Given the description of an element on the screen output the (x, y) to click on. 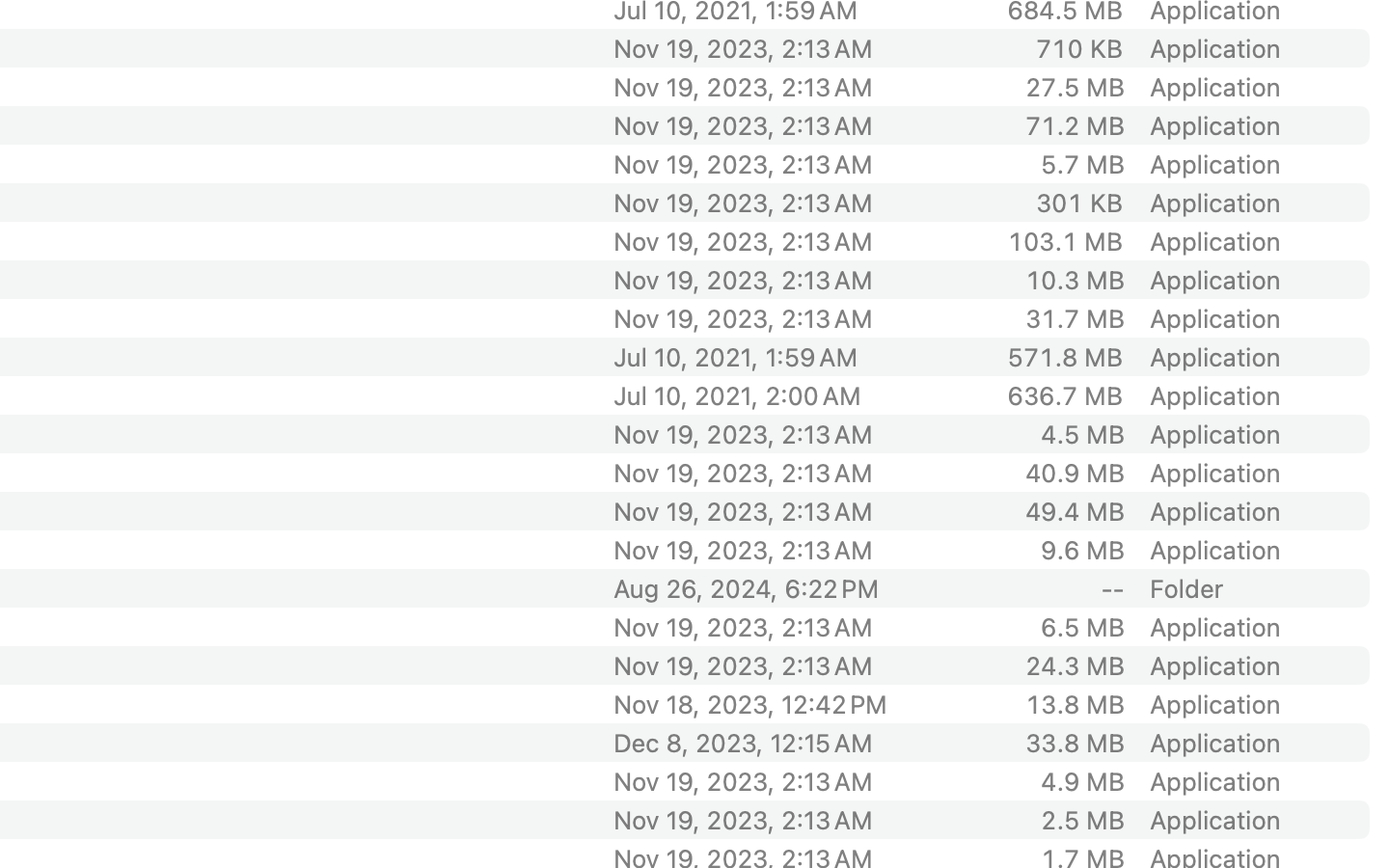
636.7 MB Element type: AXStaticText (1064, 394)
Folder Element type: AXStaticText (1186, 587)
4.9 MB Element type: AXStaticText (1081, 780)
5.7 MB Element type: AXStaticText (1081, 163)
-- Element type: AXStaticText (1111, 587)
